Given the description of an element on the screen output the (x, y) to click on. 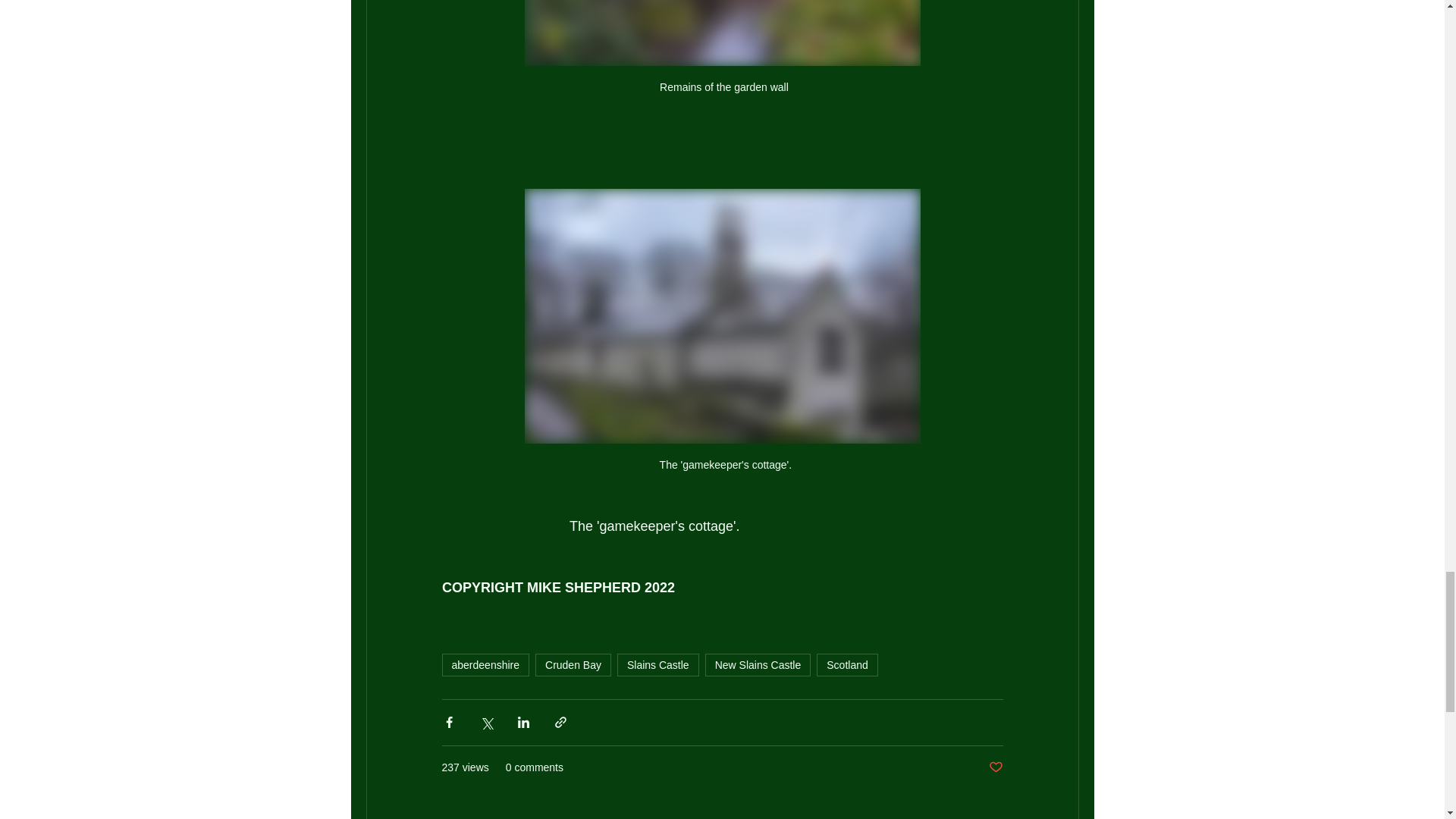
New Slains Castle (757, 664)
Scotland (846, 664)
Post not marked as liked (995, 767)
Slains Castle (657, 664)
aberdeenshire (485, 664)
Cruden Bay (573, 664)
